Given the description of an element on the screen output the (x, y) to click on. 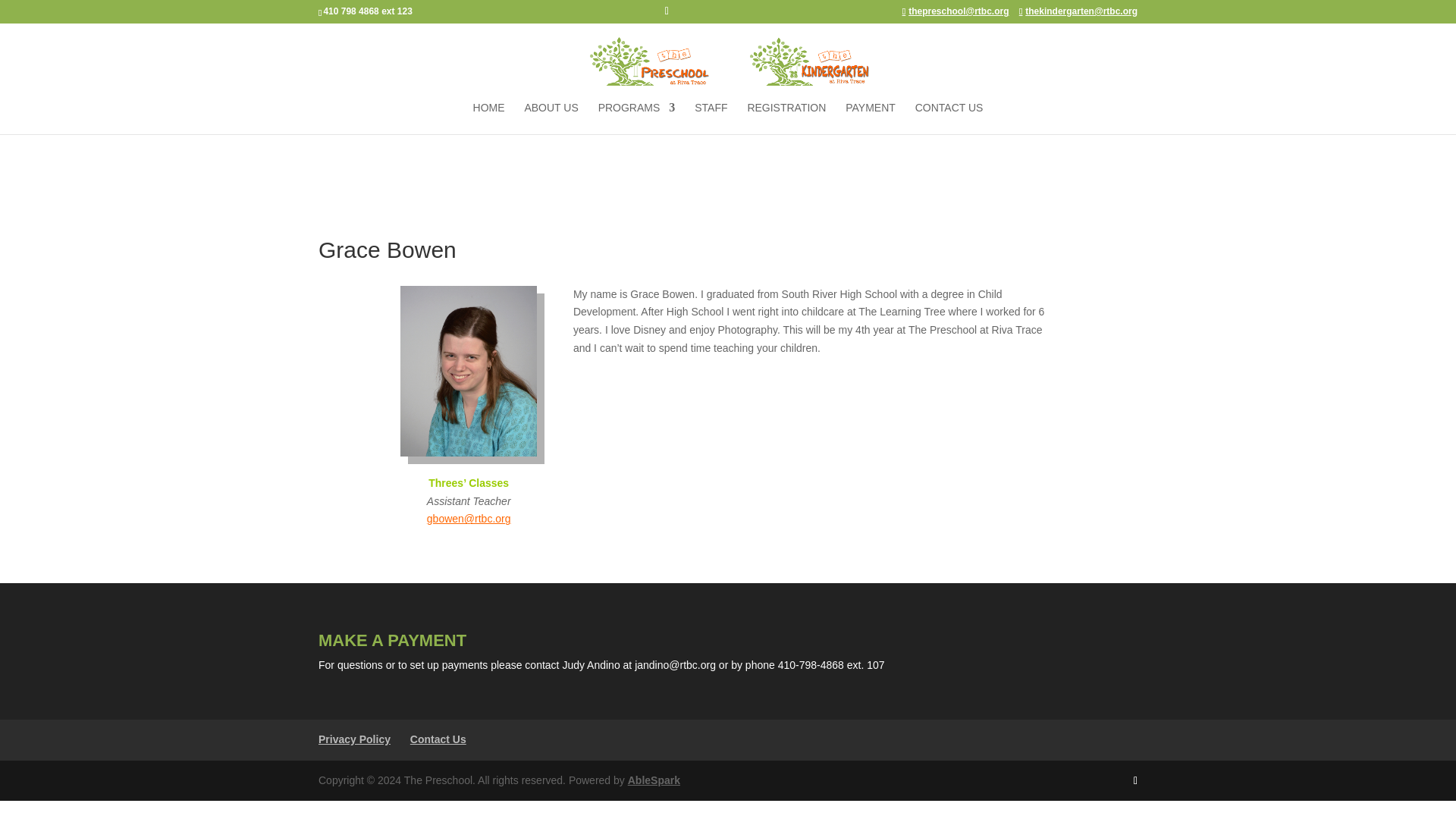
Contact Us (437, 739)
HOME (489, 118)
REGISTRATION (785, 118)
Privacy Policy (354, 739)
AbleSpark (653, 779)
PROGRAMS (636, 118)
PAYMENT (870, 118)
CONTACT US (949, 118)
ABOUT US (551, 118)
STAFF (710, 118)
